Given the description of an element on the screen output the (x, y) to click on. 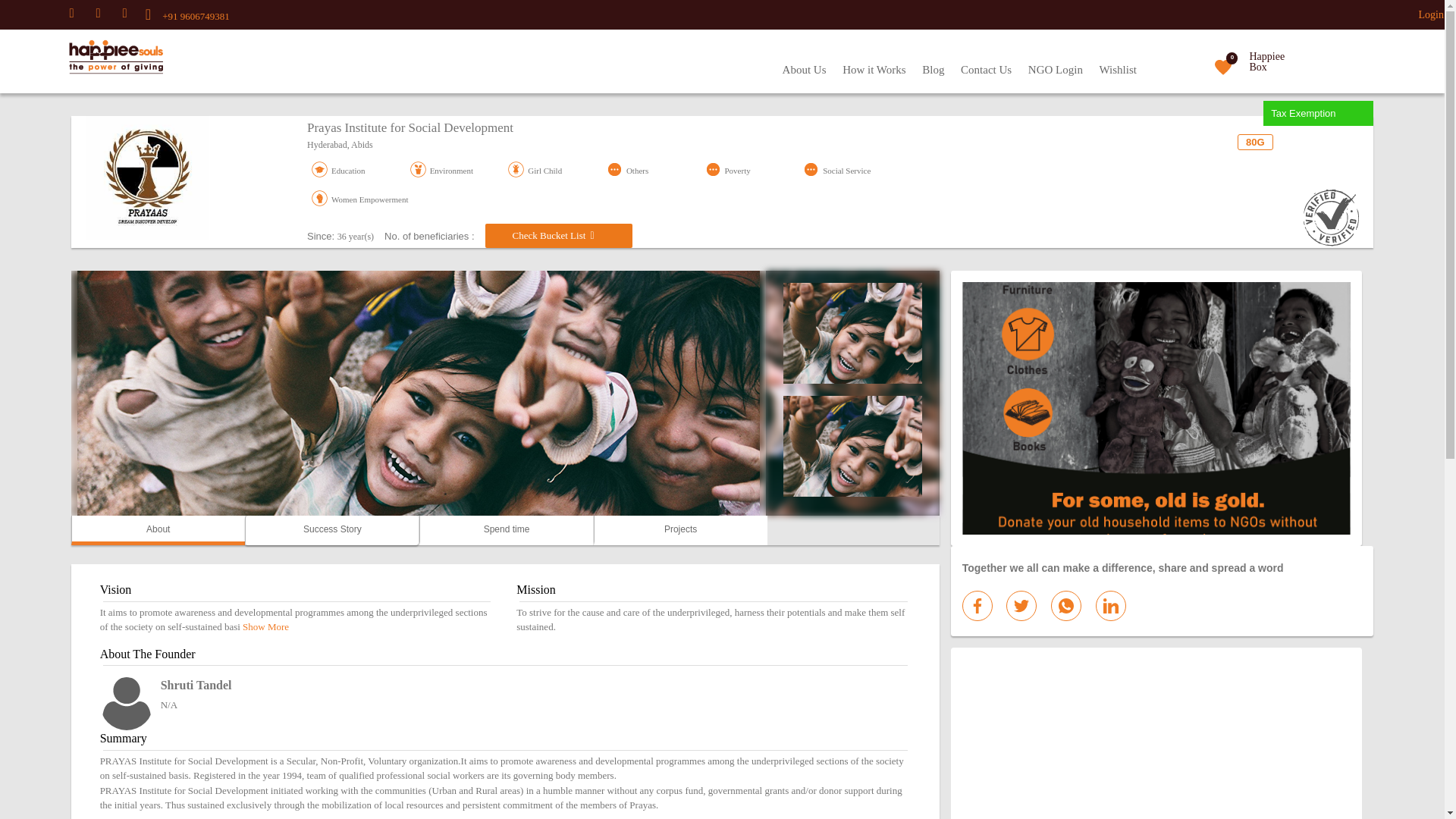
About Us (804, 70)
Check Bucket List (557, 235)
Magento Commerce (88, 57)
NGO Login (1055, 70)
Wishlist (1117, 70)
Contact Us (985, 70)
Show More (265, 626)
Blog (932, 70)
How it Works (873, 70)
Login (1431, 14)
